Given the description of an element on the screen output the (x, y) to click on. 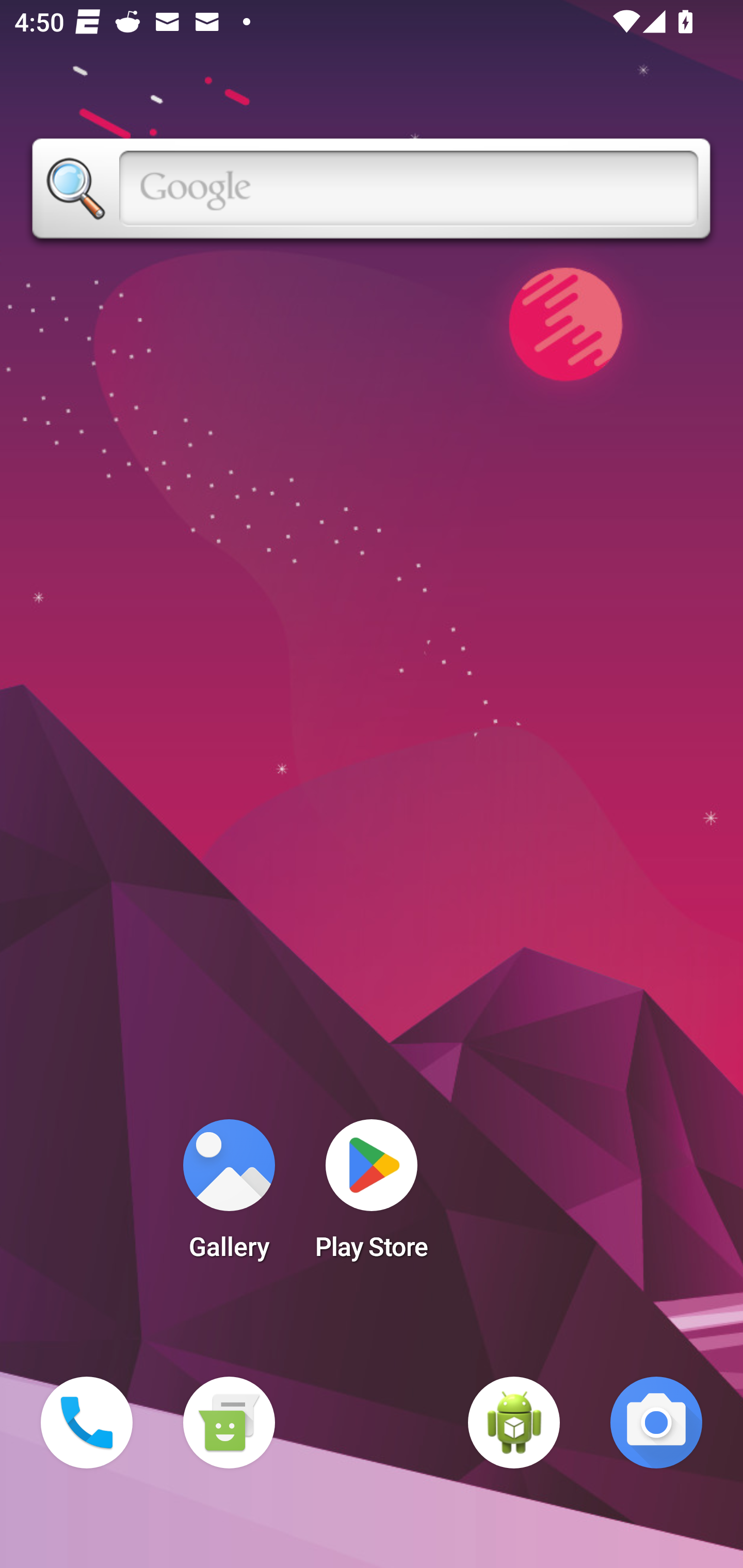
Gallery (228, 1195)
Play Store (371, 1195)
Phone (86, 1422)
Messaging (228, 1422)
WebView Browser Tester (513, 1422)
Camera (656, 1422)
